Given the description of an element on the screen output the (x, y) to click on. 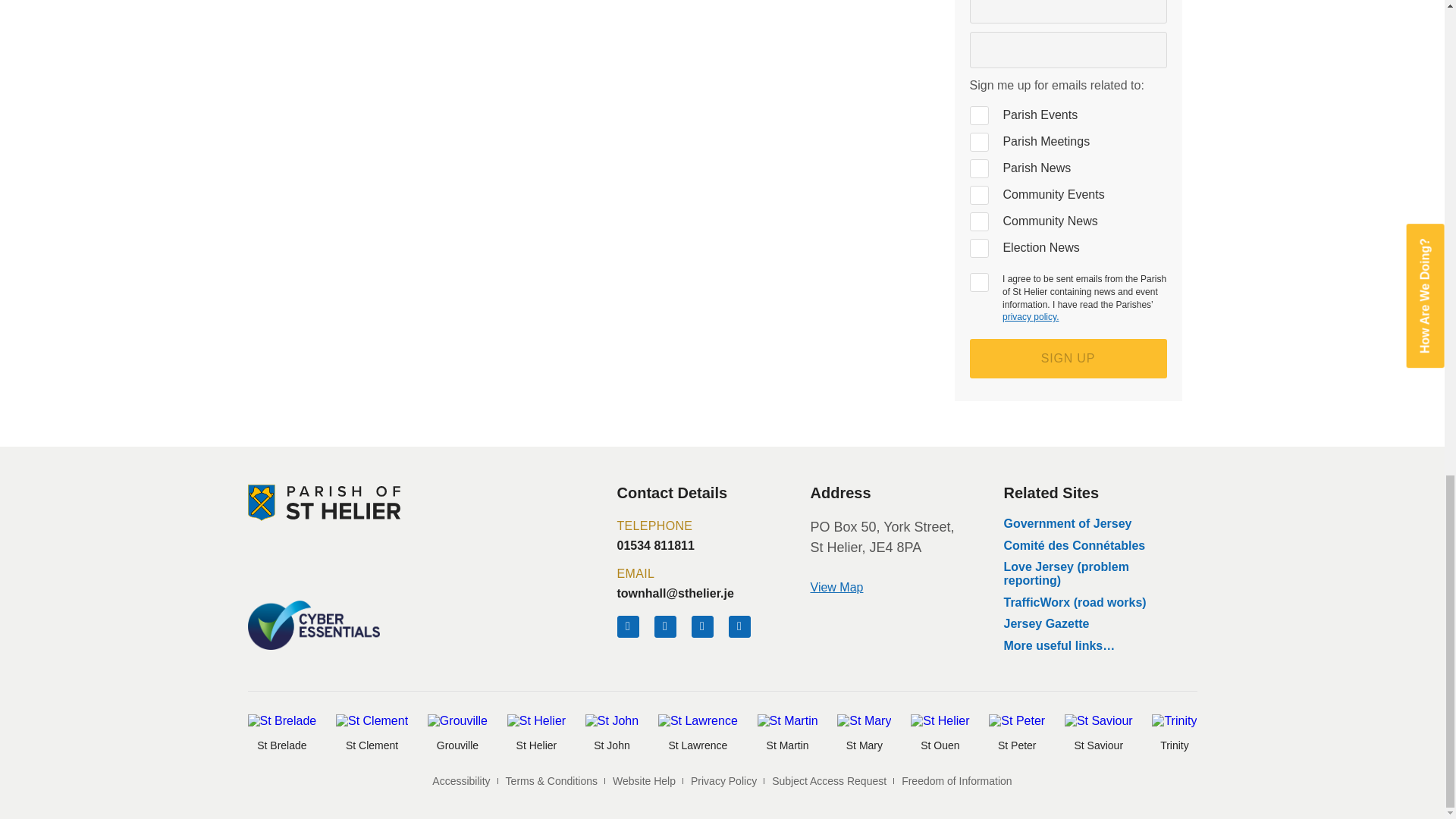
Email Address (1067, 49)
4 (978, 115)
10 (978, 141)
1 (978, 281)
7 (978, 168)
Last name (1067, 12)
SIGN UP (1067, 358)
9 (978, 221)
6 (978, 248)
5 (978, 194)
